Given the description of an element on the screen output the (x, y) to click on. 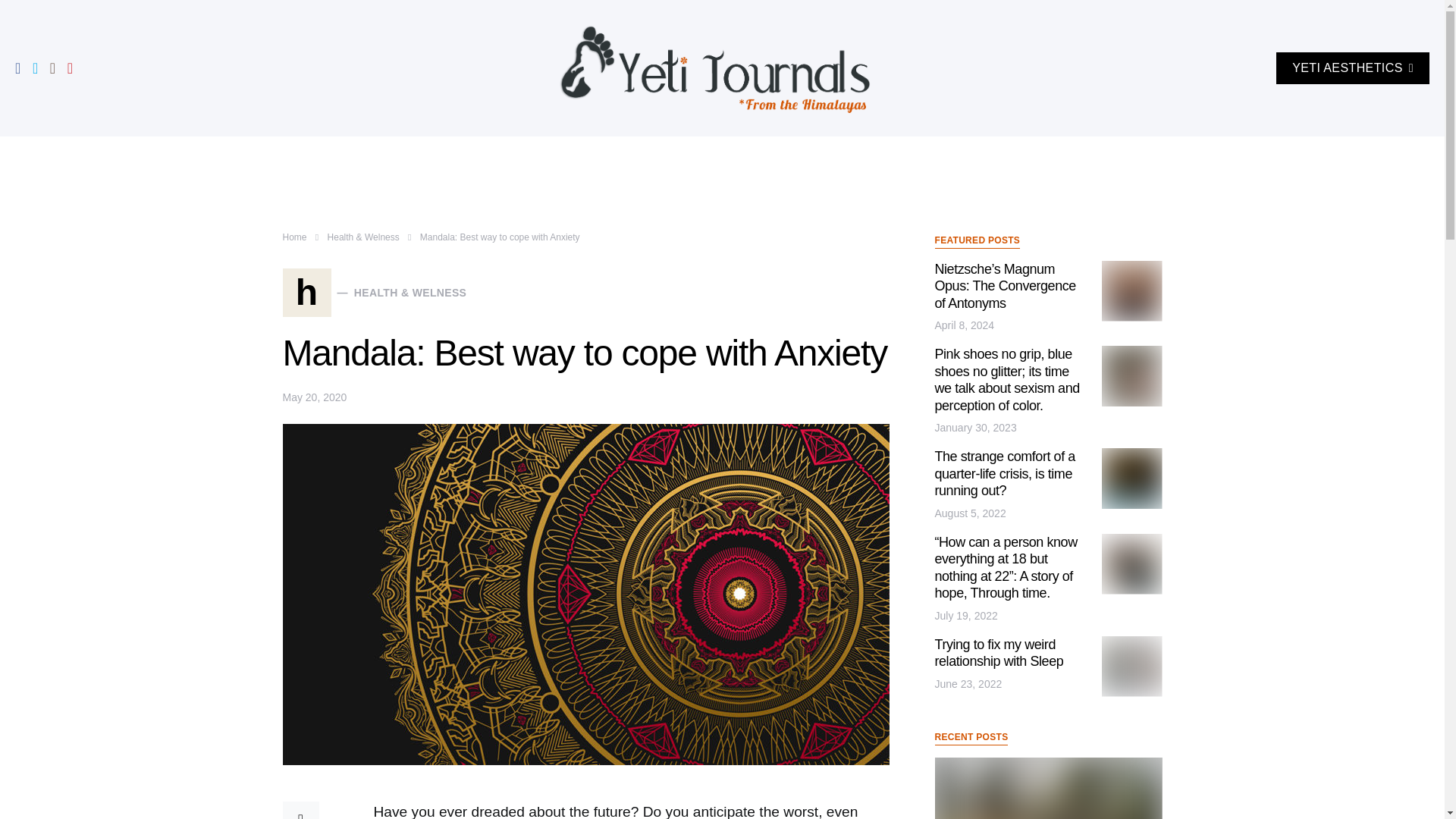
Recipies (953, 158)
YETI AESTHETICS (1352, 68)
Wellness (600, 158)
Sustainability (872, 158)
Mindfulness (354, 158)
Home (293, 236)
Spirituality (674, 158)
